Given the description of an element on the screen output the (x, y) to click on. 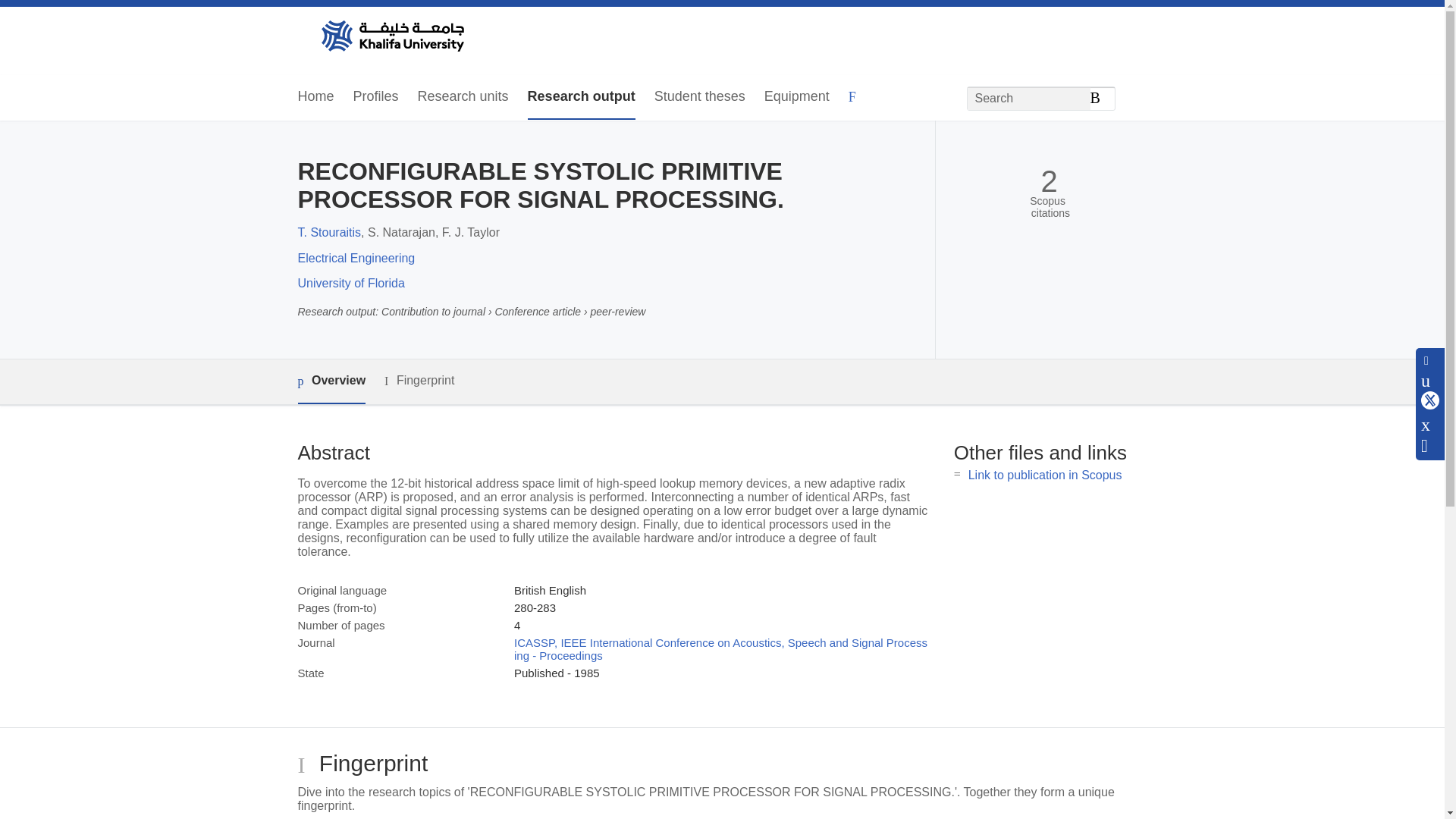
Link to publication in Scopus (1045, 474)
Student theses (699, 97)
Research output (580, 97)
Khalifa University Home (391, 37)
Profiles (375, 97)
Fingerprint (419, 380)
Research units (462, 97)
T. Stouraitis (329, 232)
